Given the description of an element on the screen output the (x, y) to click on. 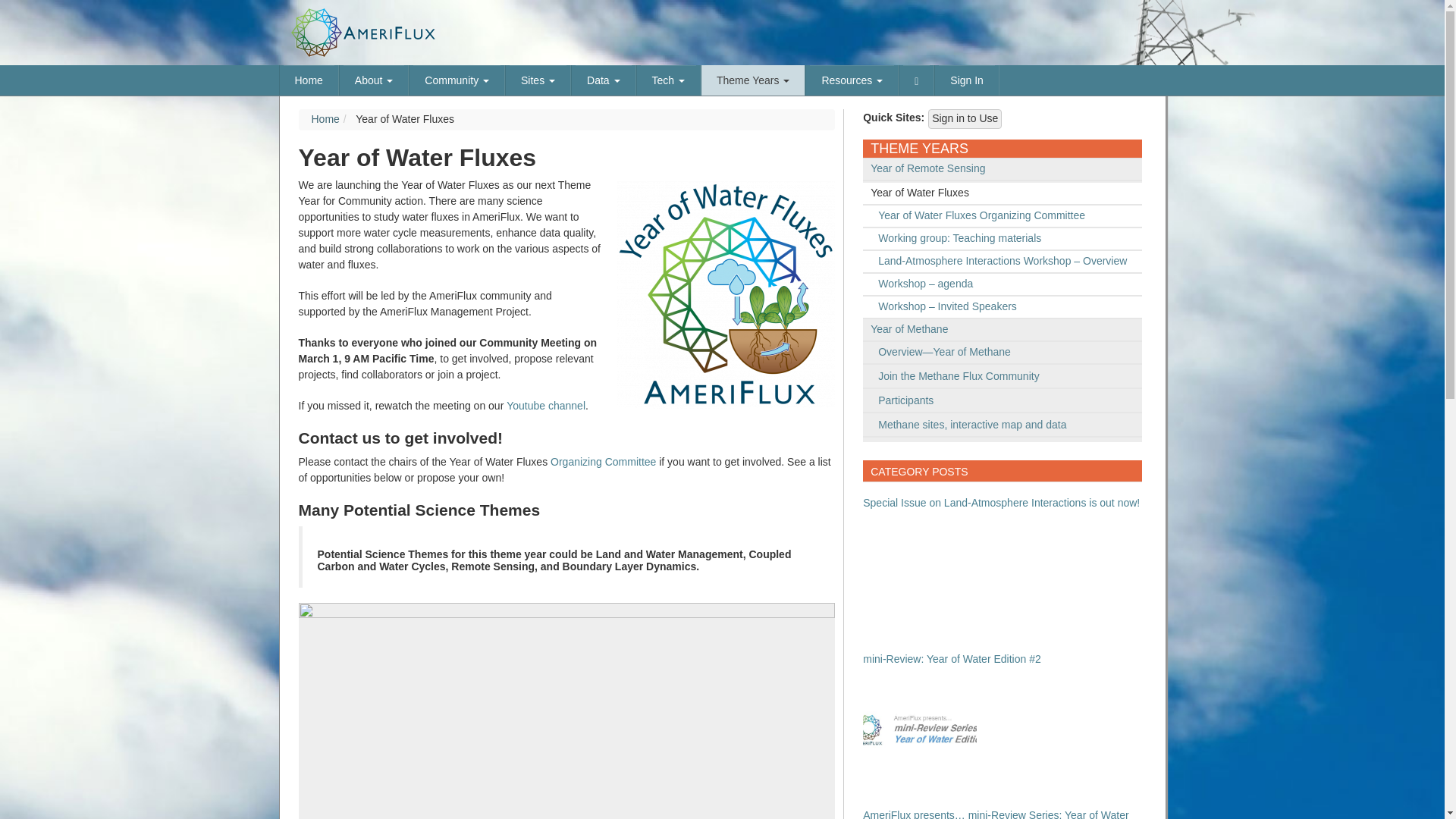
Community (456, 80)
Home (308, 80)
Community (456, 80)
Data (602, 80)
Sites (537, 80)
About (373, 80)
Home (308, 80)
About (373, 80)
